Given the description of an element on the screen output the (x, y) to click on. 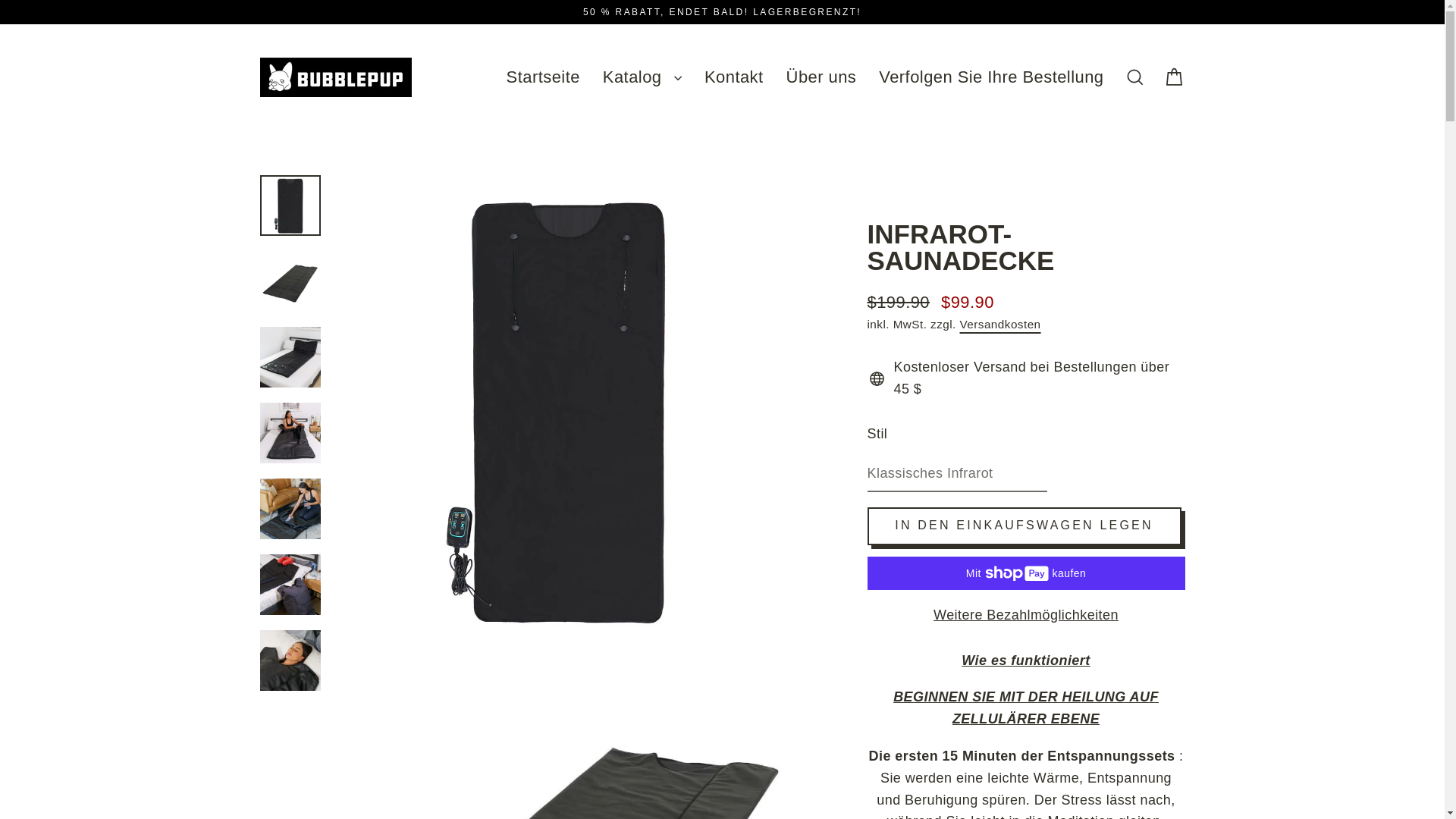
Kontakt (733, 76)
Suche (1134, 76)
Verfolgen Sie Ihre Bestellung (991, 76)
Startseite (543, 76)
Einkaufswagen (1173, 76)
